Given the description of an element on the screen output the (x, y) to click on. 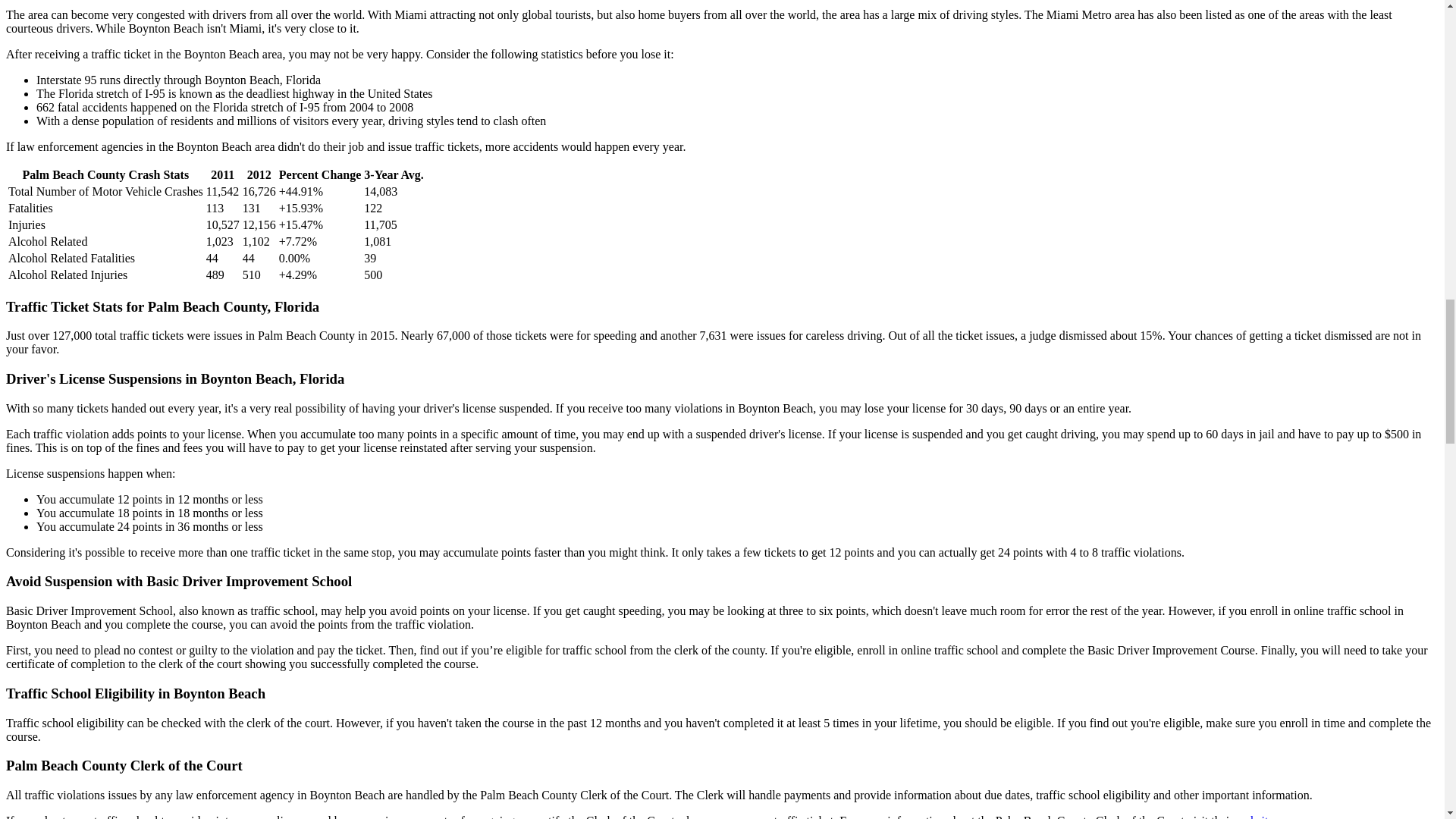
website (1255, 816)
